Given the description of an element on the screen output the (x, y) to click on. 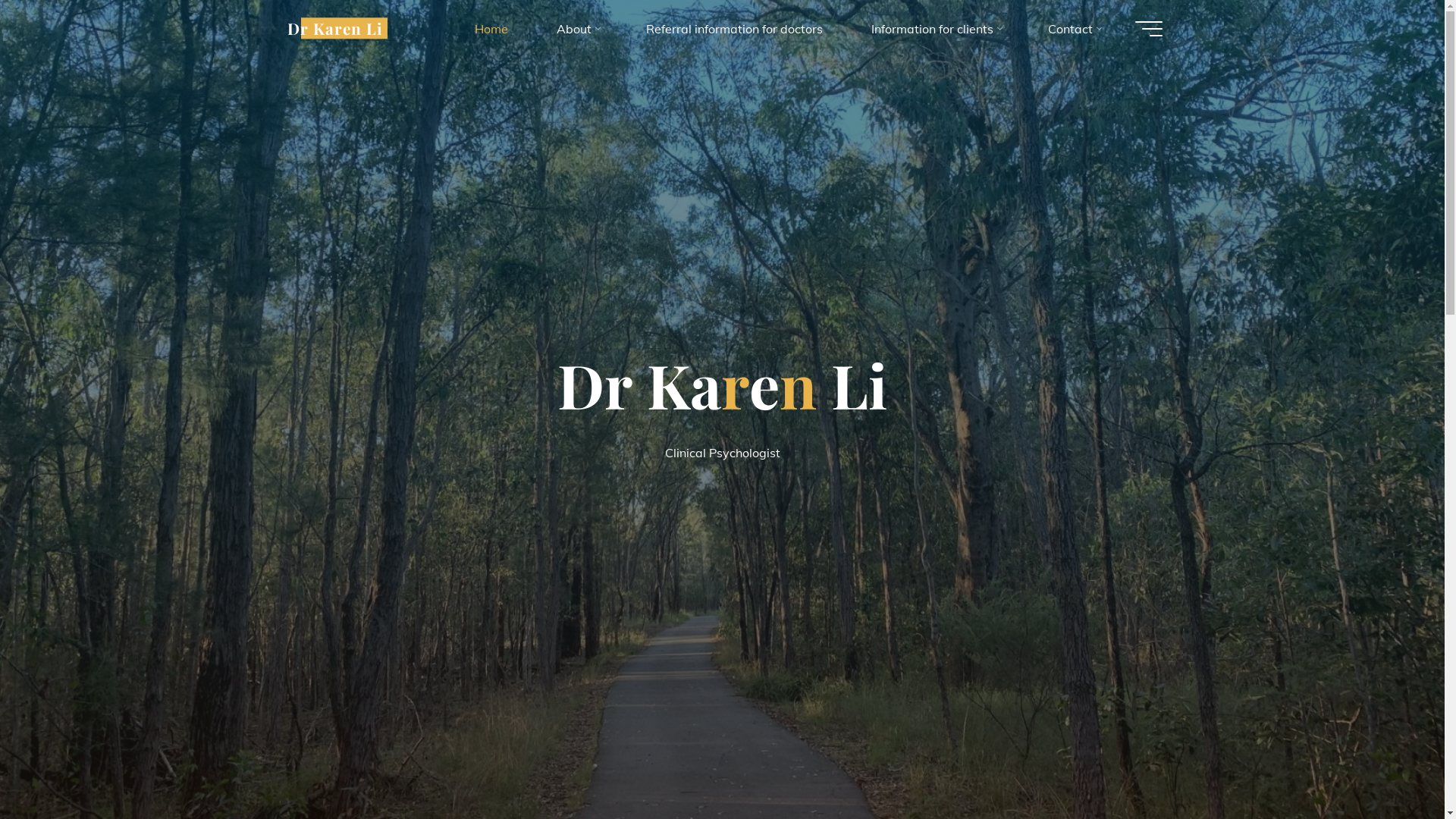
Read more Element type: hover (721, 726)
Referral information for doctors Element type: text (734, 28)
Information for clients Element type: text (934, 28)
About Element type: text (576, 28)
Home Element type: text (491, 28)
Contact Element type: text (1073, 28)
Dr Karen Li Element type: text (334, 27)
